Given the description of an element on the screen output the (x, y) to click on. 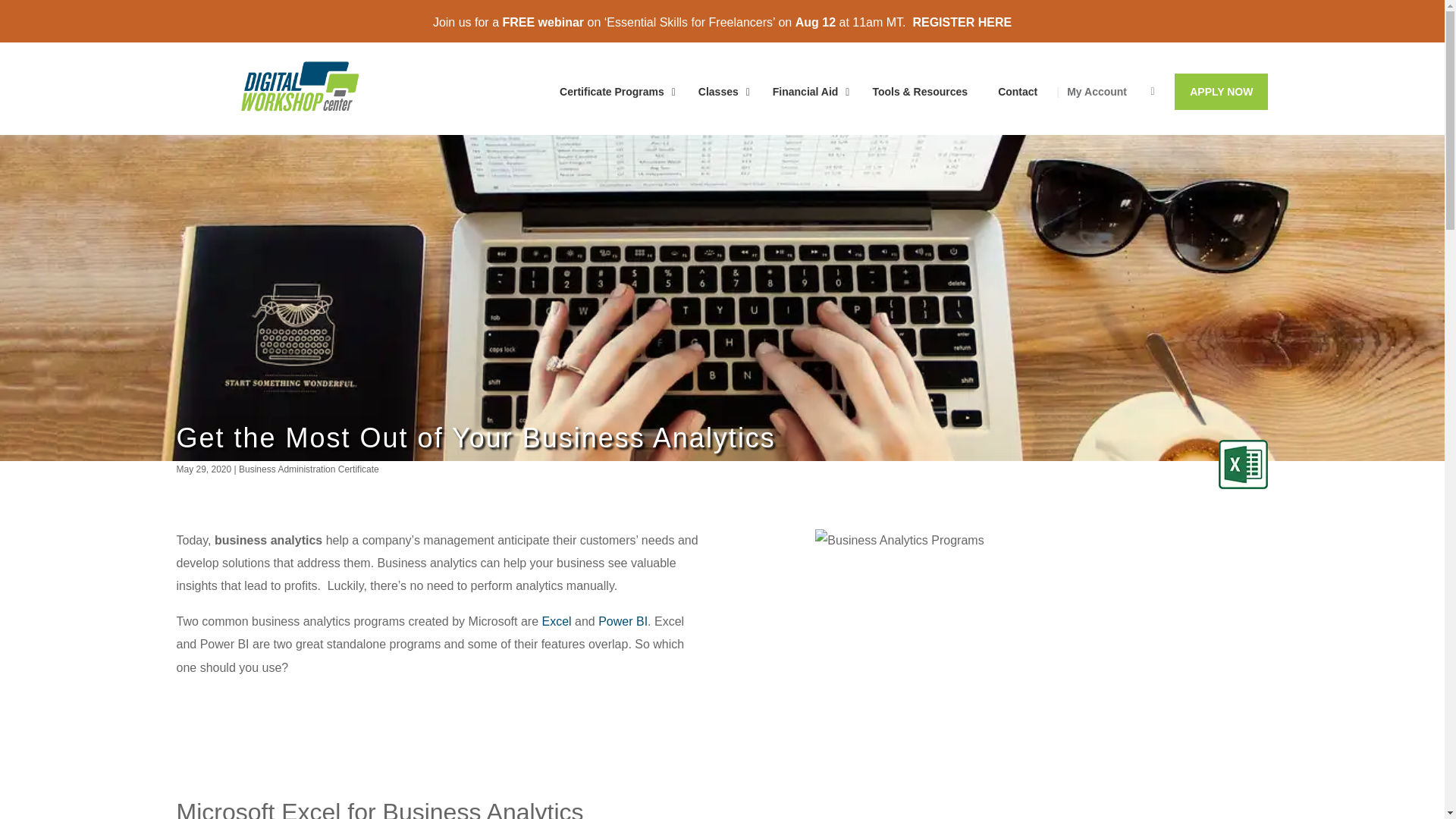
  REGISTER HERE (958, 21)
Classes (719, 91)
Certificate Programs (613, 91)
